Given the description of an element on the screen output the (x, y) to click on. 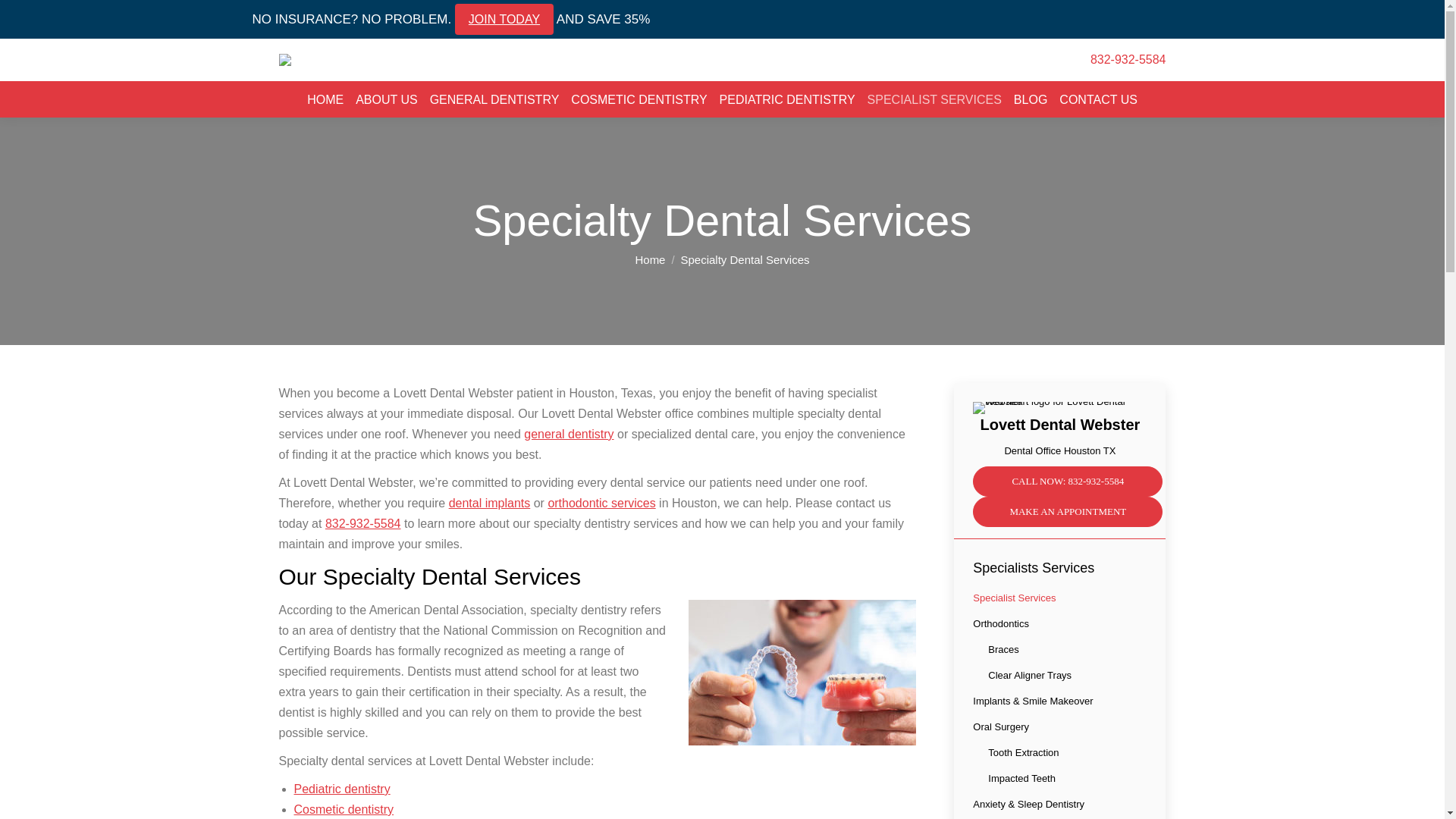
JOIN TODAY (503, 19)
PEDIATRIC DENTISTRY (787, 99)
COSMETIC DENTISTRY (638, 99)
ABOUT US (386, 99)
SPECIALIST SERVICES (934, 99)
HOME (325, 99)
GENERAL DENTISTRY (494, 99)
832-932-5584 (1128, 59)
CONTACT US (1098, 99)
BLOG (1029, 99)
